Given the description of an element on the screen output the (x, y) to click on. 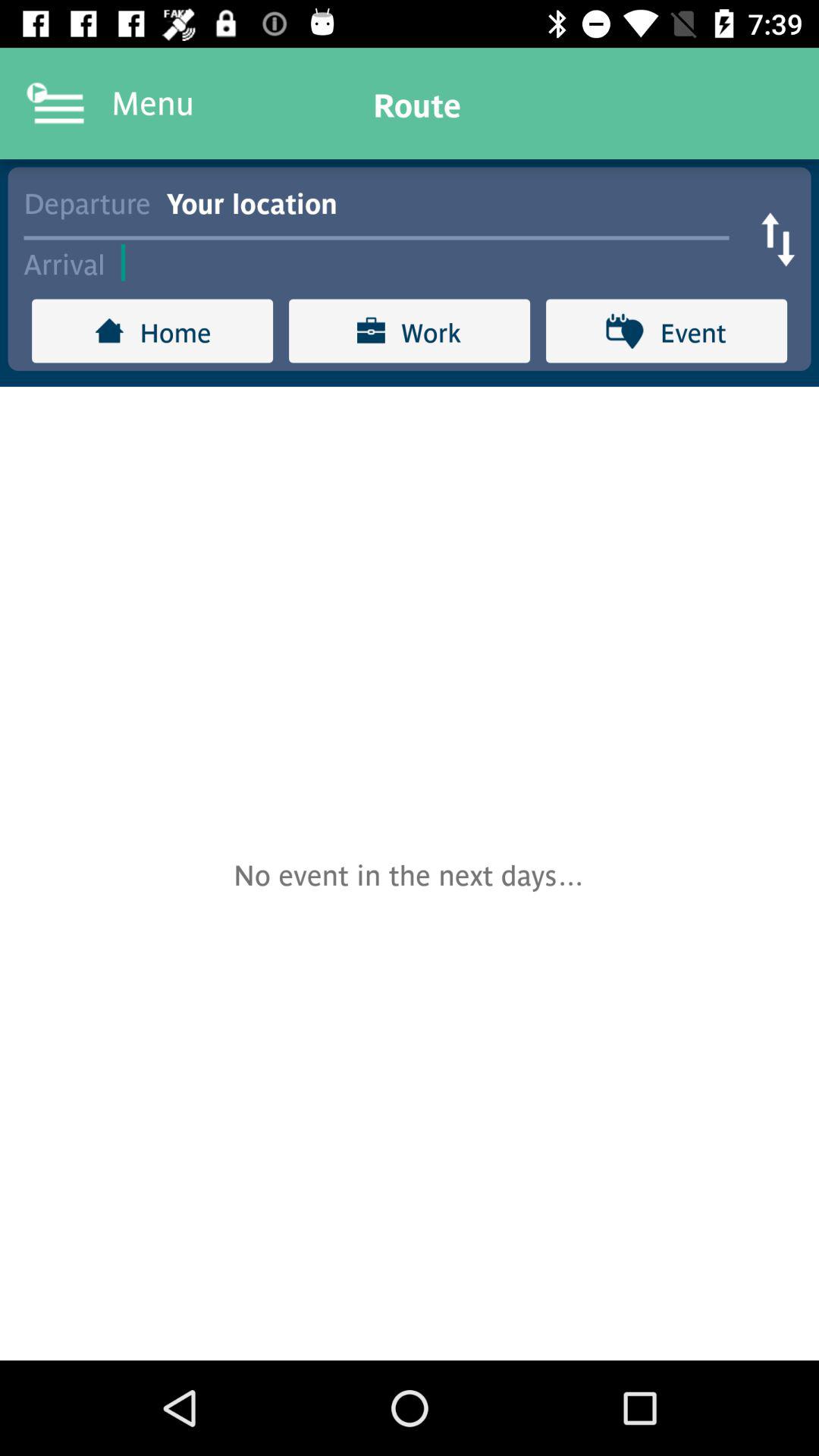
press the icon next to the departure icon (455, 201)
